Given the description of an element on the screen output the (x, y) to click on. 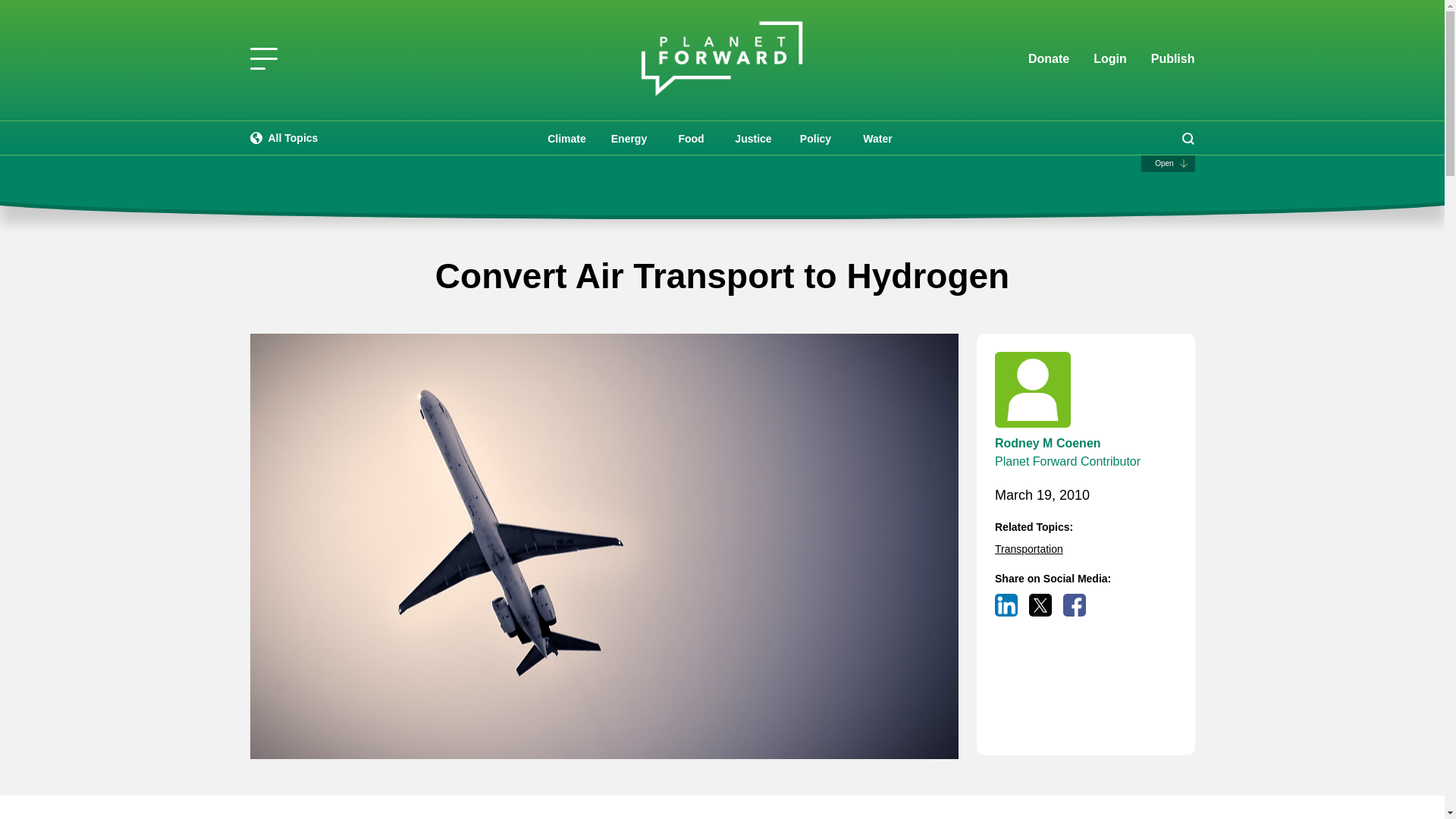
Water (876, 137)
Login (1109, 58)
Justice (753, 137)
All Topics (284, 138)
Policy (814, 137)
Donate (1047, 58)
Climate (565, 137)
Food (690, 137)
Publish (1173, 58)
Energy (627, 137)
